Given the description of an element on the screen output the (x, y) to click on. 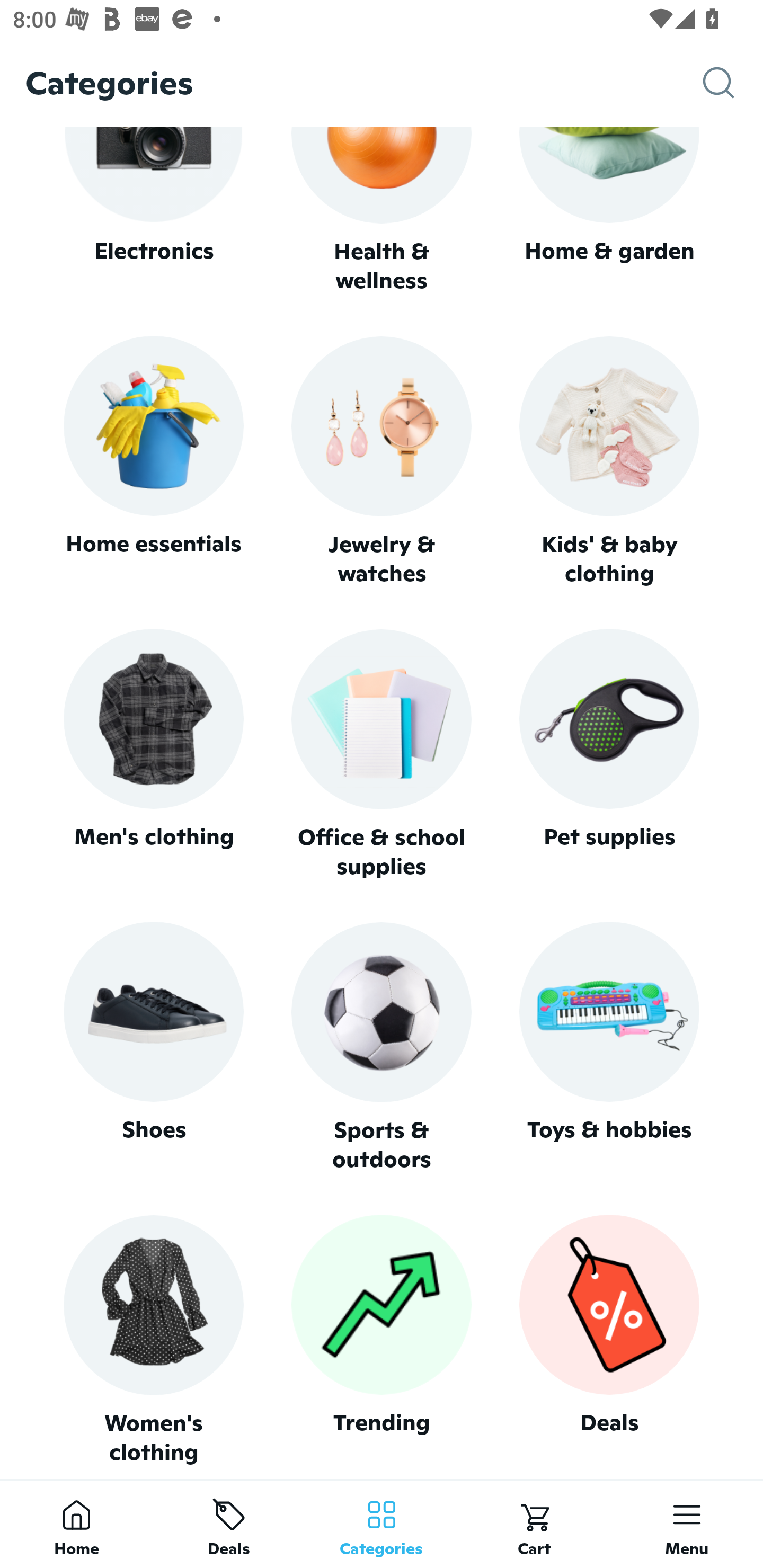
Search (732, 82)
Electronics (153, 210)
Health & wellness (381, 210)
Home & garden (609, 210)
Home essentials (153, 461)
Jewelry & watches (381, 462)
Kids' & baby clothing (609, 462)
Men's clothing (153, 753)
Pet supplies (609, 753)
Office & school supplies (381, 753)
Shoes (153, 1046)
Toys & hobbies (609, 1046)
Sports & outdoors (381, 1046)
Trending (381, 1340)
Deals (609, 1340)
Women's clothing (153, 1340)
Home (76, 1523)
Deals (228, 1523)
Categories (381, 1523)
Cart (533, 1523)
Menu (686, 1523)
